Given the description of an element on the screen output the (x, y) to click on. 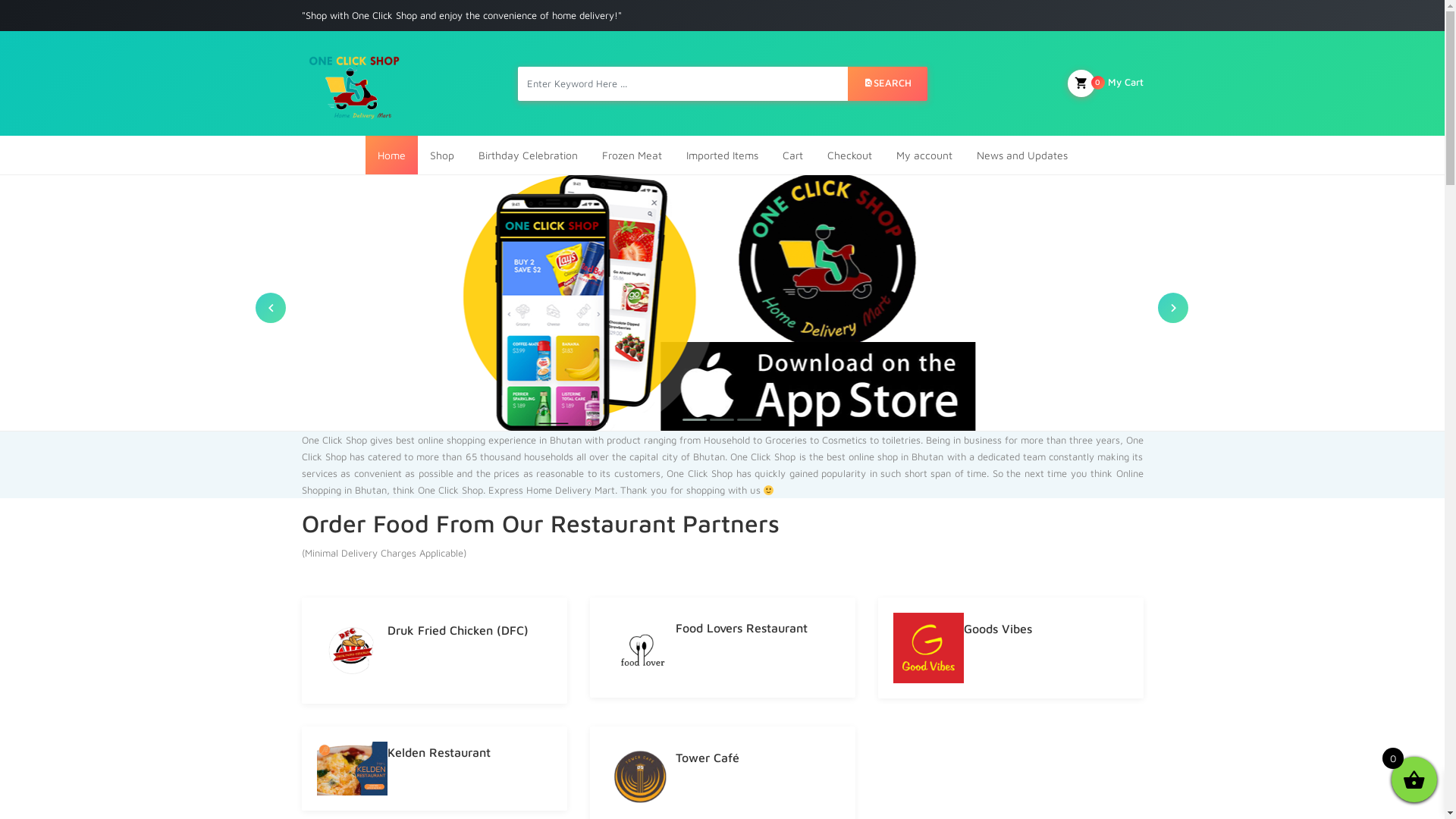
Frozen Meat Element type: text (631, 154)
News and Updates Element type: text (1021, 154)
Shop Element type: text (441, 154)
Imported Items Element type: text (721, 154)
Goods Vibes Element type: text (997, 631)
Home Element type: text (391, 154)
My Cart
0 Element type: text (1105, 82)
SEARCH Element type: text (887, 83)
largest and best online shop in Bhutan Element type: hover (358, 83)
Cart Element type: text (792, 154)
Birthday Celebration Element type: text (527, 154)
Food Lovers Restaurant Element type: text (740, 631)
slider2 Element type: hover (582, 301)
Checkout Element type: text (848, 154)
Druk Fried Chicken (DFC) Element type: text (456, 633)
Kelden Restaurant Element type: text (437, 755)
My account Element type: text (924, 154)
